Given the description of an element on the screen output the (x, y) to click on. 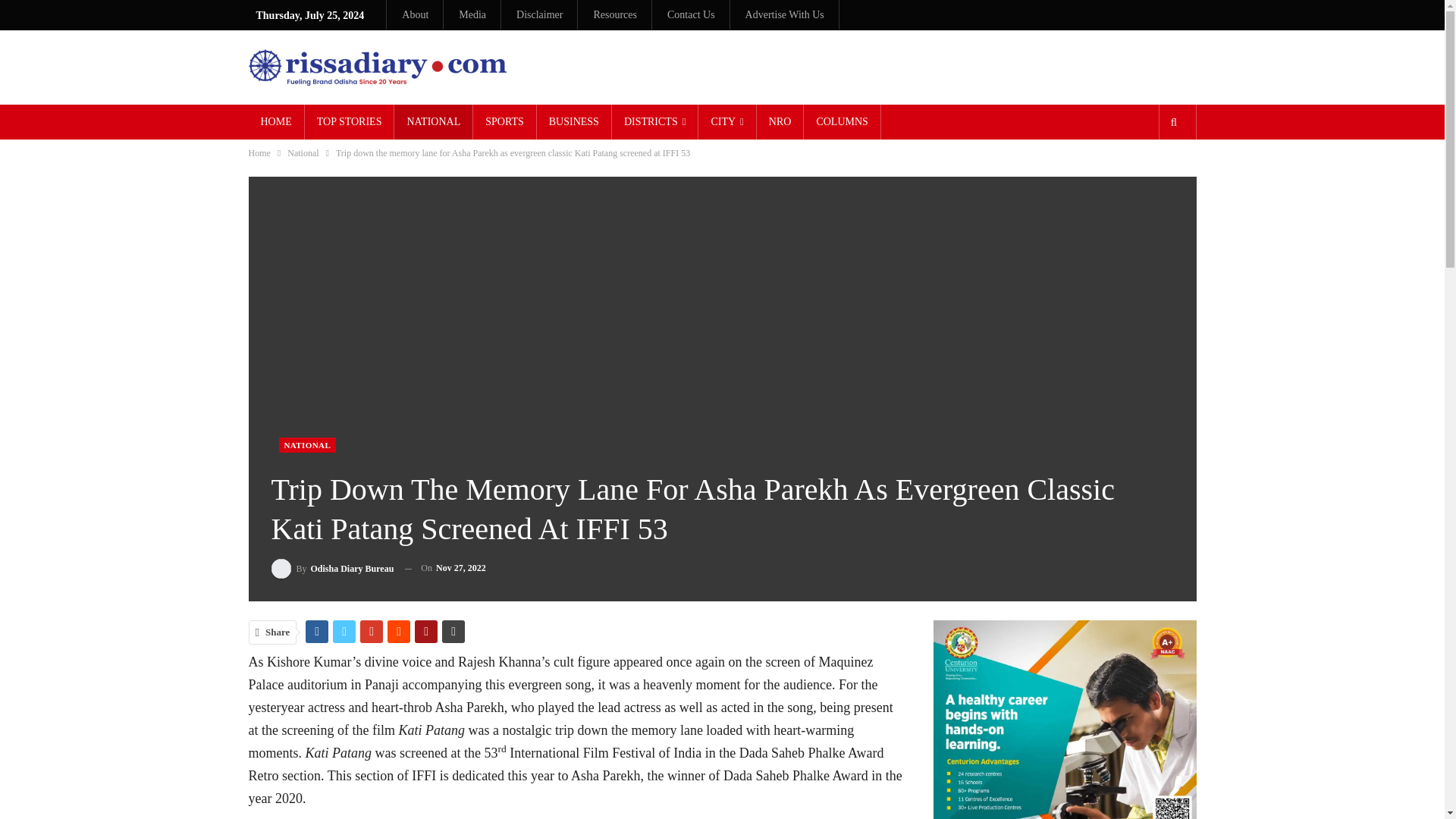
NATIONAL (432, 121)
Resources (614, 14)
SPORTS (504, 121)
Contact Us (690, 14)
Advertise With Us (784, 14)
About (414, 14)
Media (472, 14)
Disclaimer (539, 14)
BUSINESS (574, 121)
Browse Author Articles (332, 567)
DISTRICTS (654, 121)
HOME (276, 121)
TOP STORIES (349, 121)
